Given the description of an element on the screen output the (x, y) to click on. 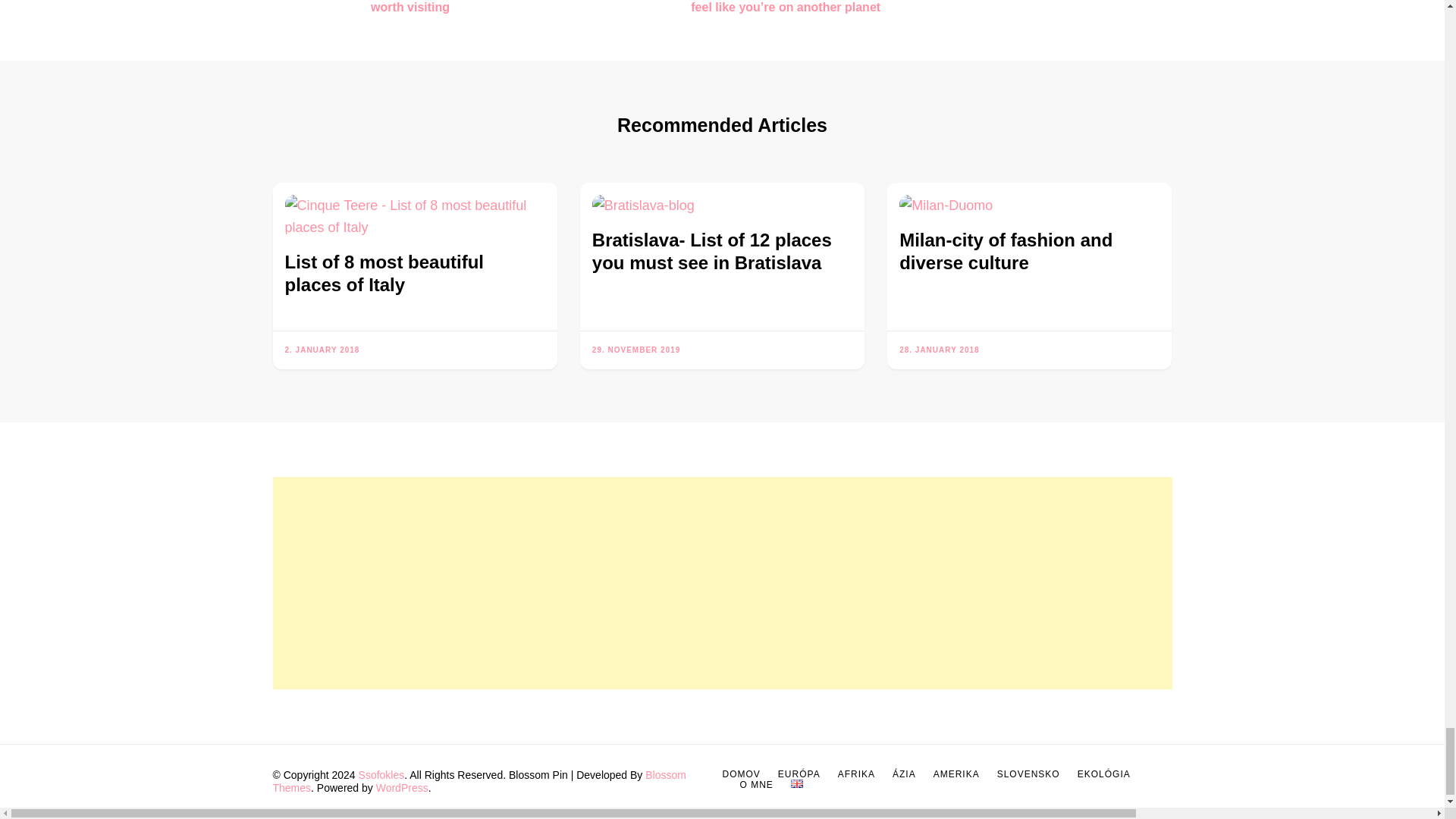
List of  8 most beautiful places of Italy (414, 216)
